Given the description of an element on the screen output the (x, y) to click on. 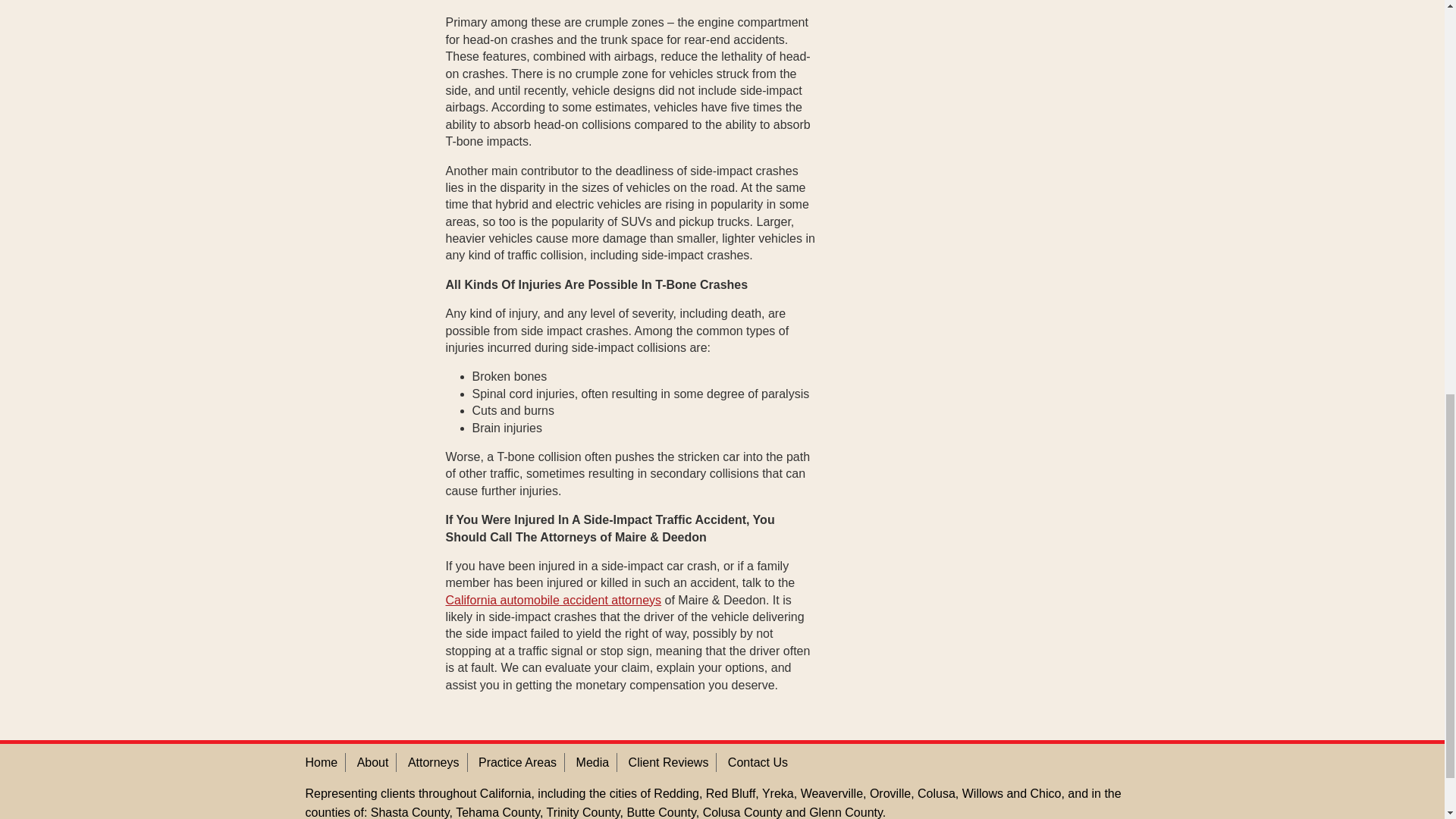
Attorneys (433, 762)
California automobile accident attorneys (553, 599)
Home (320, 762)
About (372, 762)
